Given the description of an element on the screen output the (x, y) to click on. 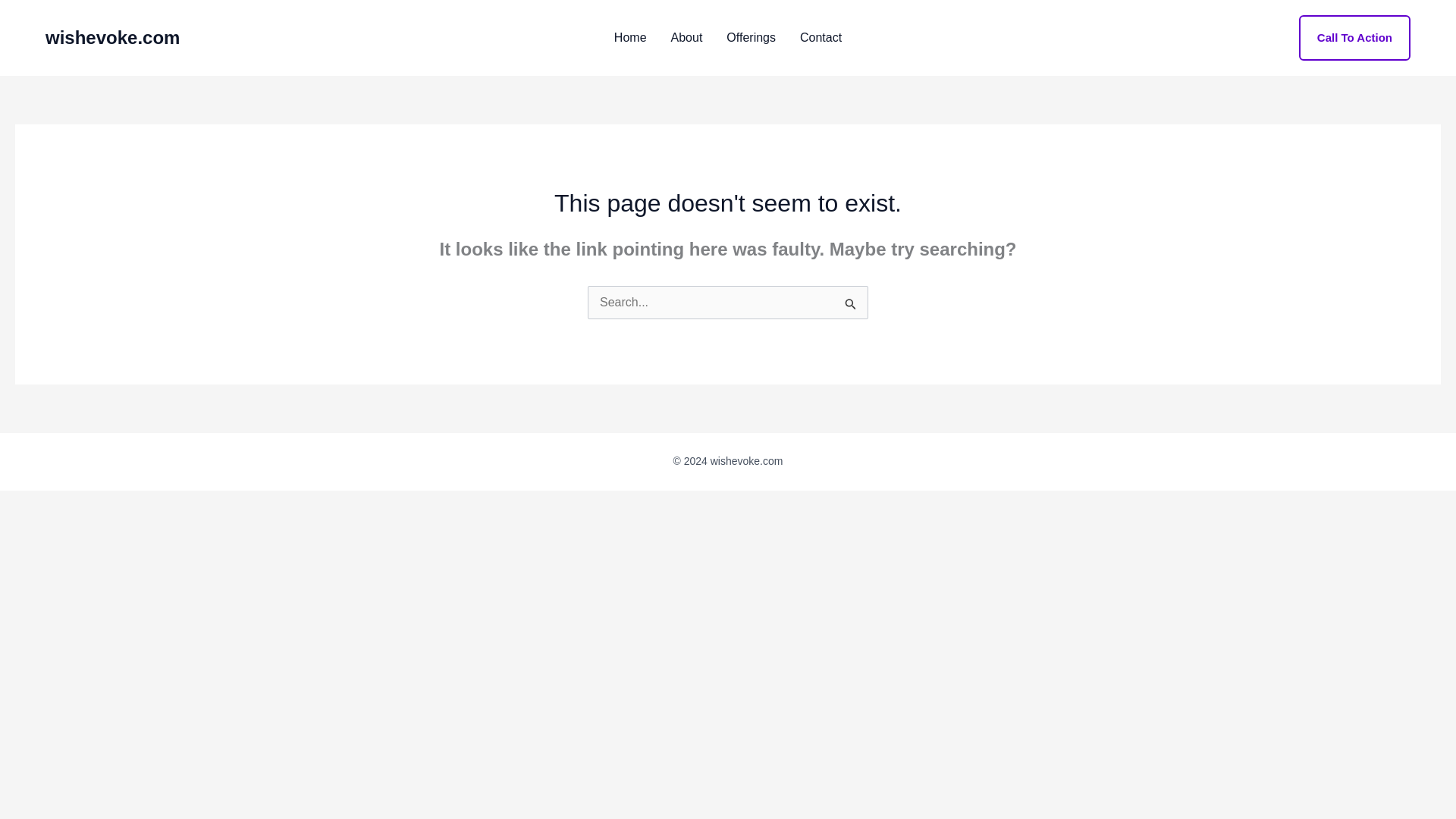
Home (630, 37)
About (686, 37)
Contact (820, 37)
wishevoke.com (112, 37)
Call To Action (1354, 37)
Offerings (750, 37)
